Given the description of an element on the screen output the (x, y) to click on. 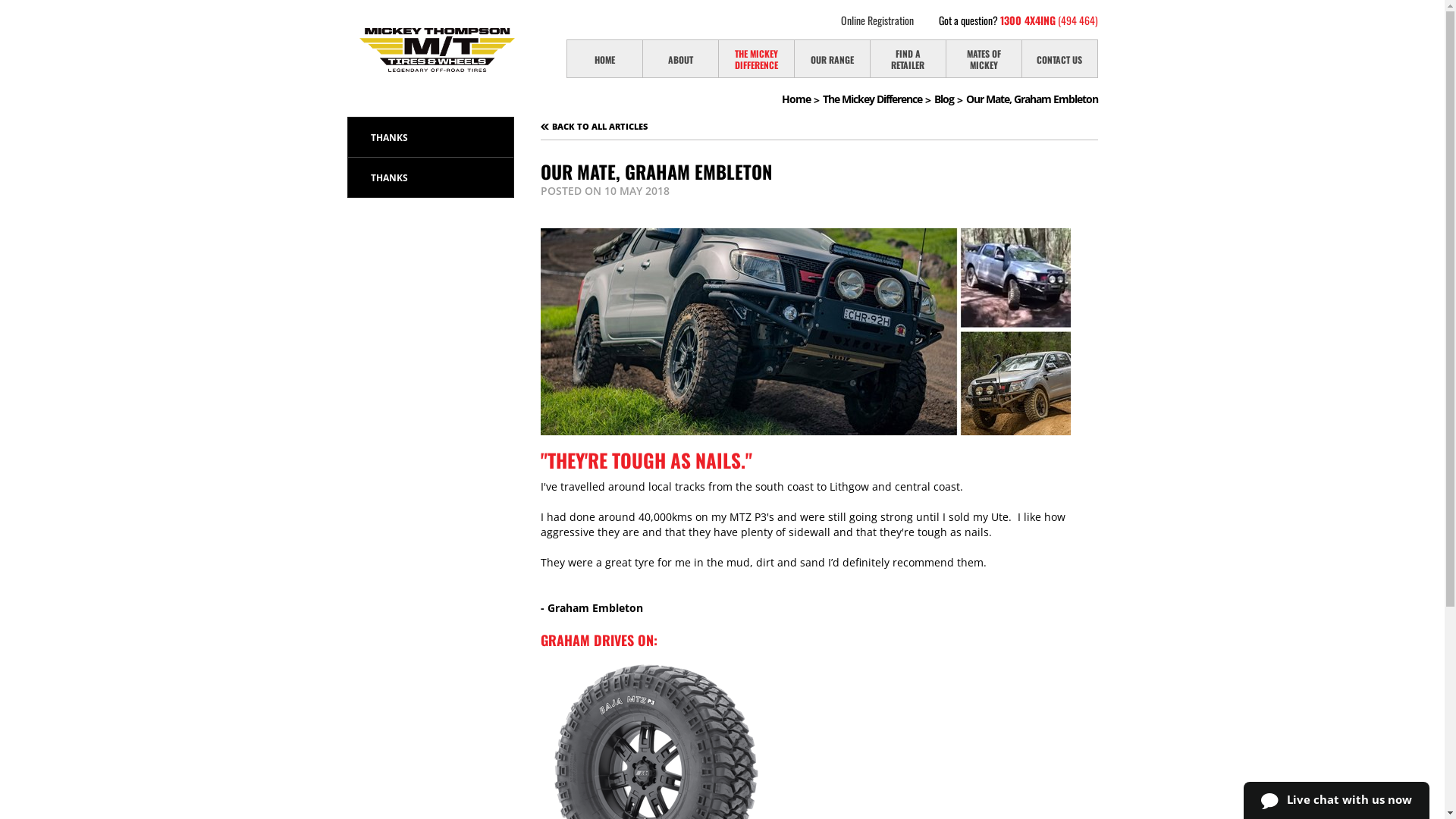
ABOUT Element type: text (680, 58)
MATES OF MICKEY Element type: text (984, 58)
Blog Element type: text (948, 98)
FIND A RETAILER Element type: text (908, 58)
OUR RANGE Element type: text (832, 58)
1300 4X4ING (494 464) Element type: text (1048, 20)
HOME Element type: text (605, 58)
Online Registration Element type: text (876, 20)
THANKS Element type: text (429, 136)
The Mickey Difference Element type: text (876, 98)
Mickey Thompson Element type: text (436, 49)
Home Element type: text (800, 98)
BACK TO ALL ARTICLES Element type: text (592, 126)
CONTACT US Element type: text (1060, 58)
THE MICKEY DIFFERENCE Element type: text (756, 58)
THANKS Element type: text (429, 177)
